Given the description of an element on the screen output the (x, y) to click on. 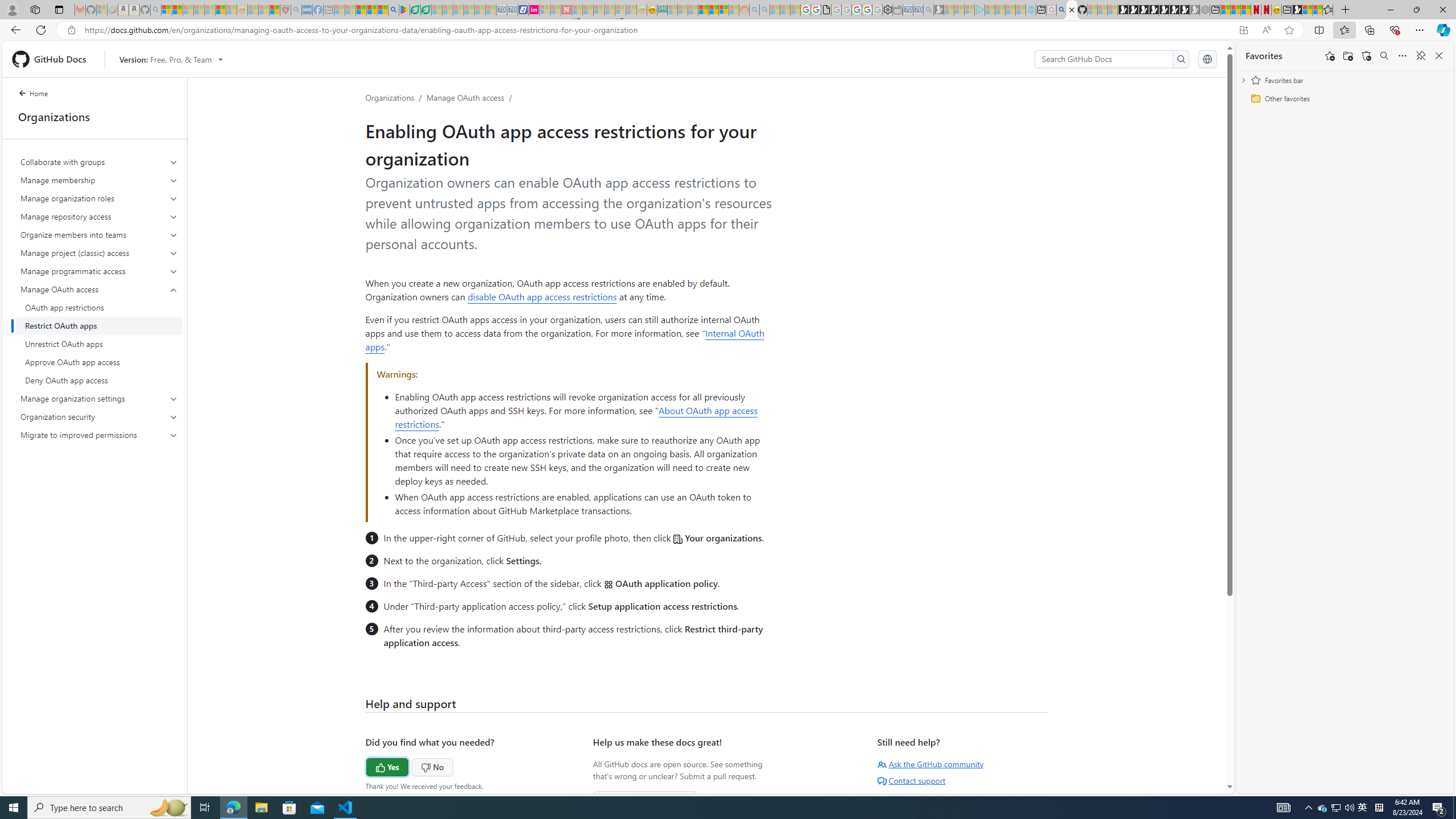
Restore deleted favorites (1366, 55)
Internal OAuth apps (564, 339)
Migrate to improved permissions (99, 434)
Microsoft Word - consumer-privacy address update 2.2021 (426, 9)
OAuth app restrictions (99, 307)
Local - MSN (274, 9)
Unrestrict OAuth apps (99, 343)
